Given the description of an element on the screen output the (x, y) to click on. 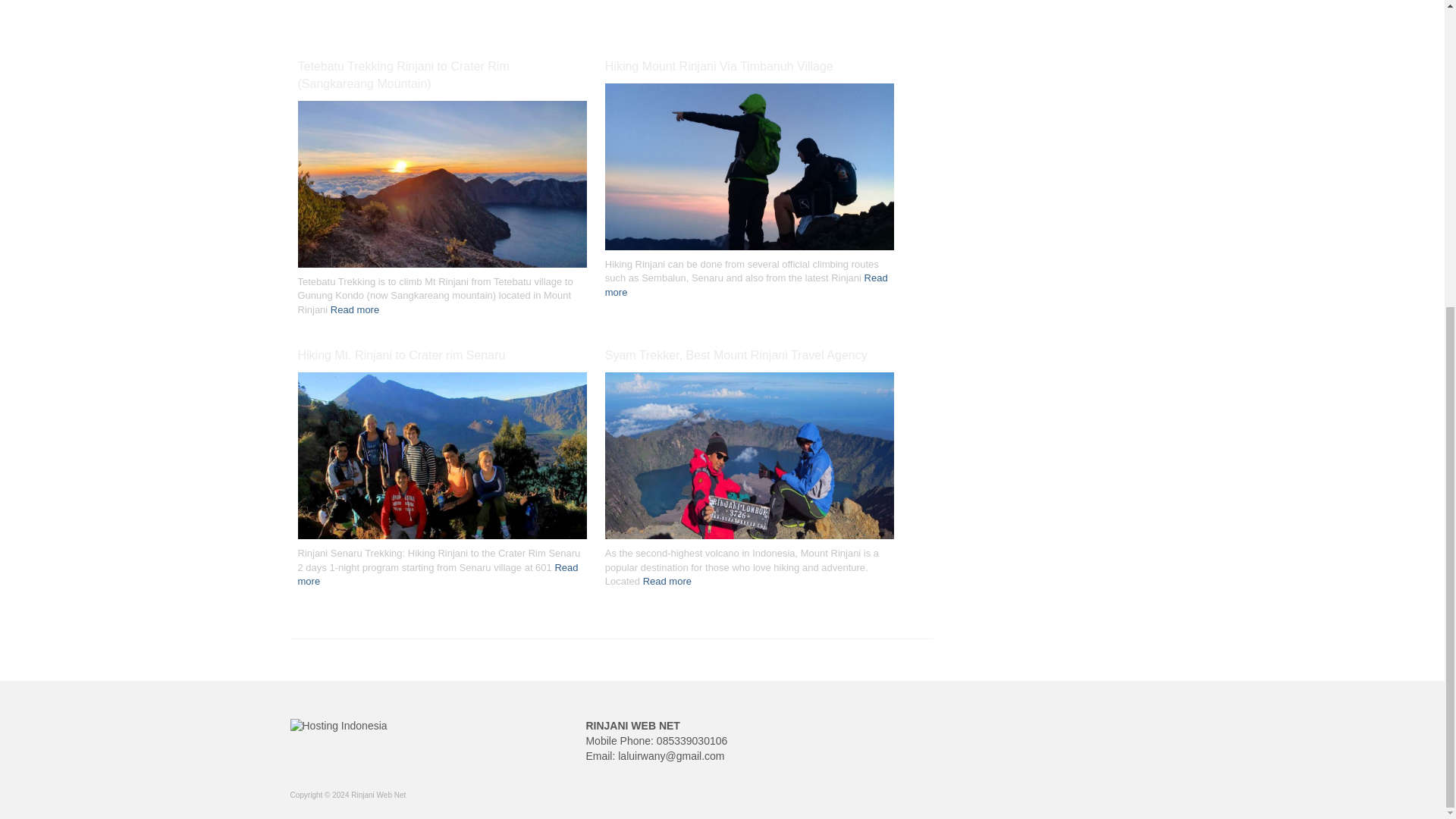
Hiking Mt. Rinjani to Crater rim Senaru (441, 355)
Read more (354, 309)
Hiking Mount Rinjani Via Timbanuh Village (749, 168)
Read more (746, 284)
Syam Trekker, Best Mount Rinjani Travel Agency (749, 355)
Hiking Mount Rinjani Via Timbanuh Village (749, 67)
Hiking Mt. Rinjani to Crater rim Senaru (441, 458)
Read more (667, 581)
Read more (437, 574)
Hiking Mt. Rinjani to Crater rim Senaru (441, 355)
Syam Trekker, Best Mount Rinjani Travel Agency (749, 458)
Hiking Mount Rinjani Via Timbanuh Village (749, 67)
Hosting Murah Indonesia (338, 725)
Syam Trekker, Best Mount Rinjani Travel Agency (749, 355)
